Given the description of an element on the screen output the (x, y) to click on. 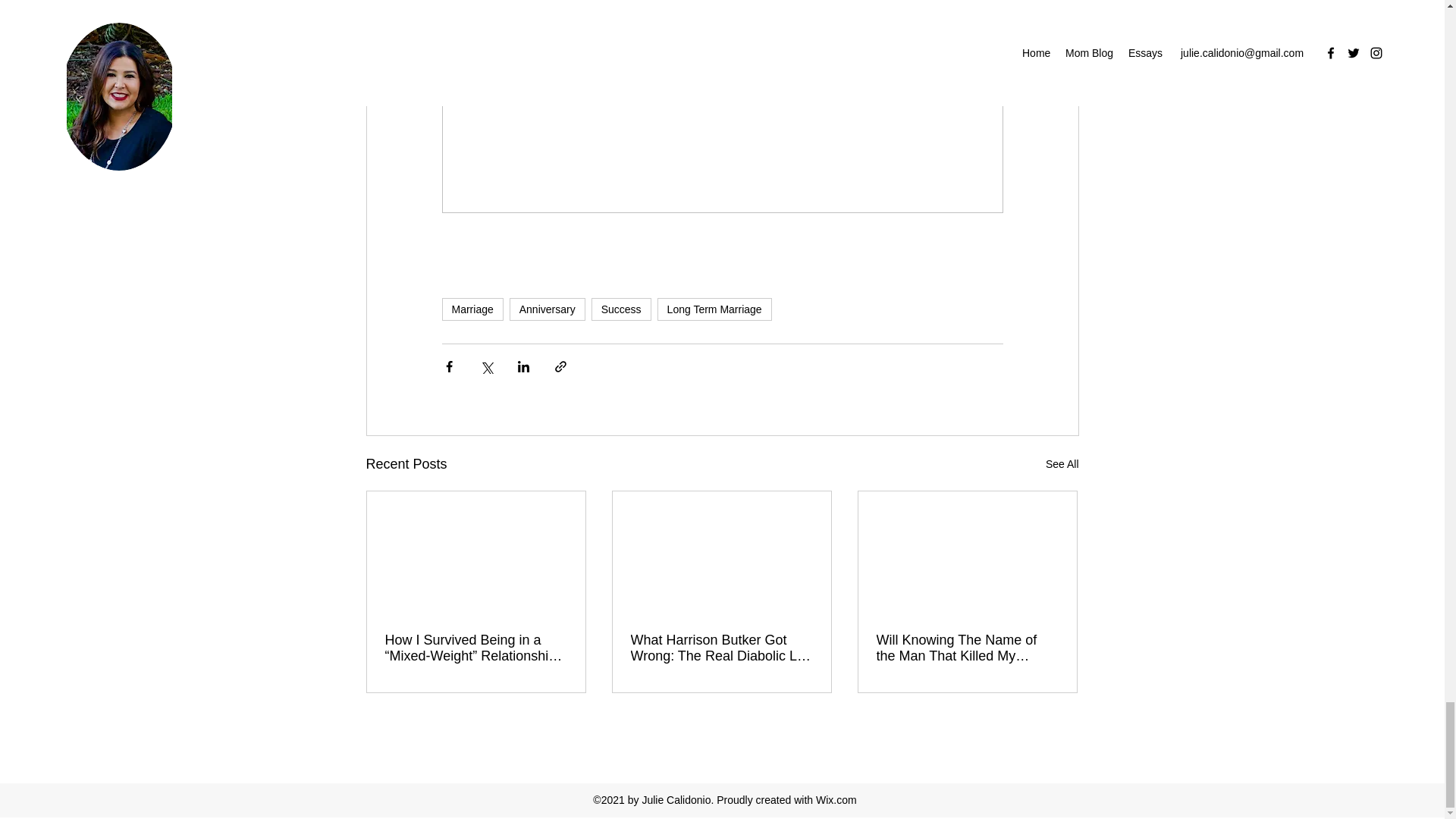
Long Term Marriage (714, 309)
Marriage (471, 309)
Success (620, 309)
See All (1061, 464)
Anniversary (547, 309)
